Given the description of an element on the screen output the (x, y) to click on. 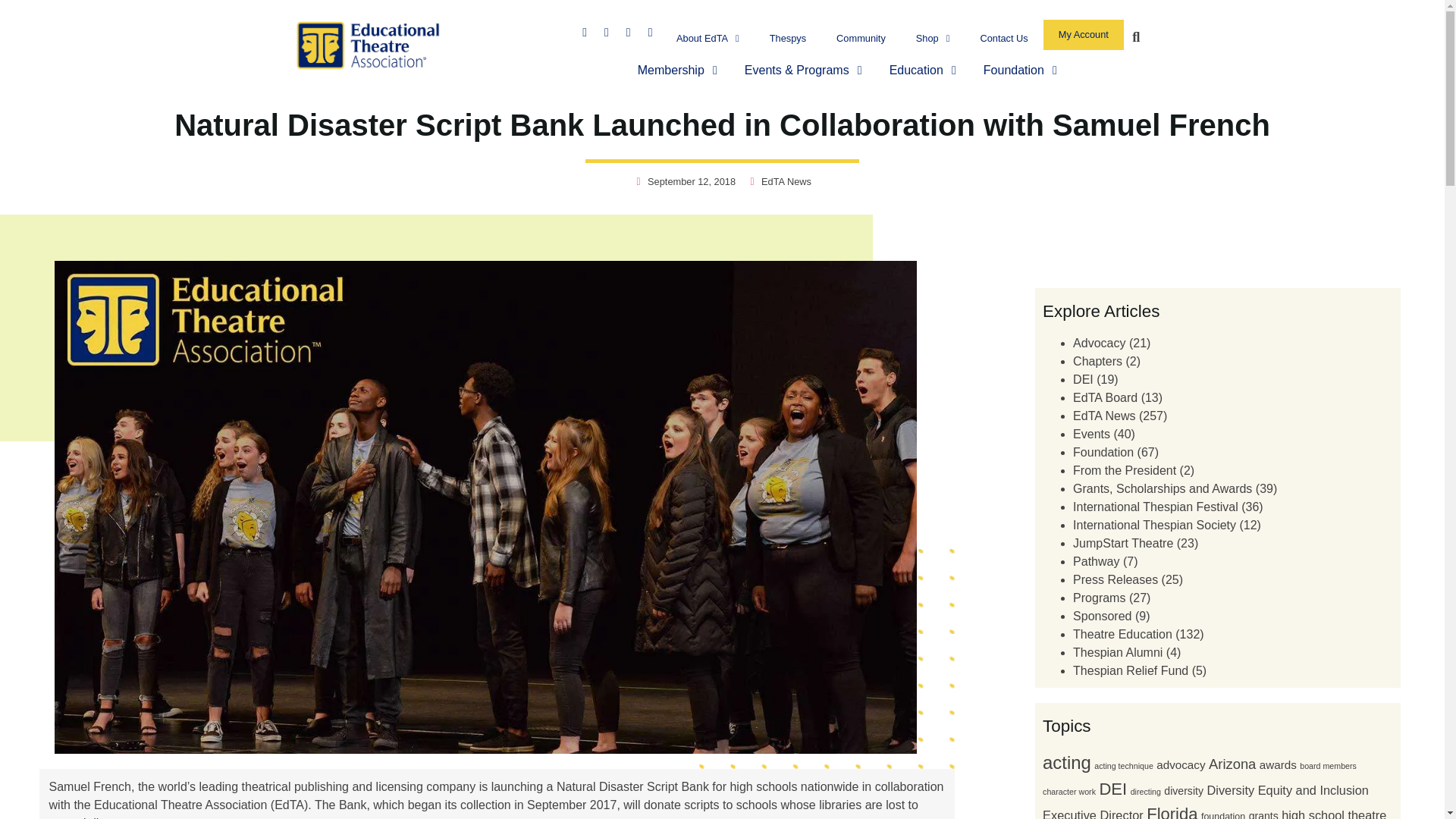
Go to my account (1083, 34)
My Account (1083, 34)
Shop (933, 38)
Community (861, 38)
Contact Us (1002, 38)
About EdTA (707, 38)
Thespys (787, 38)
Membership (670, 70)
